Given the description of an element on the screen output the (x, y) to click on. 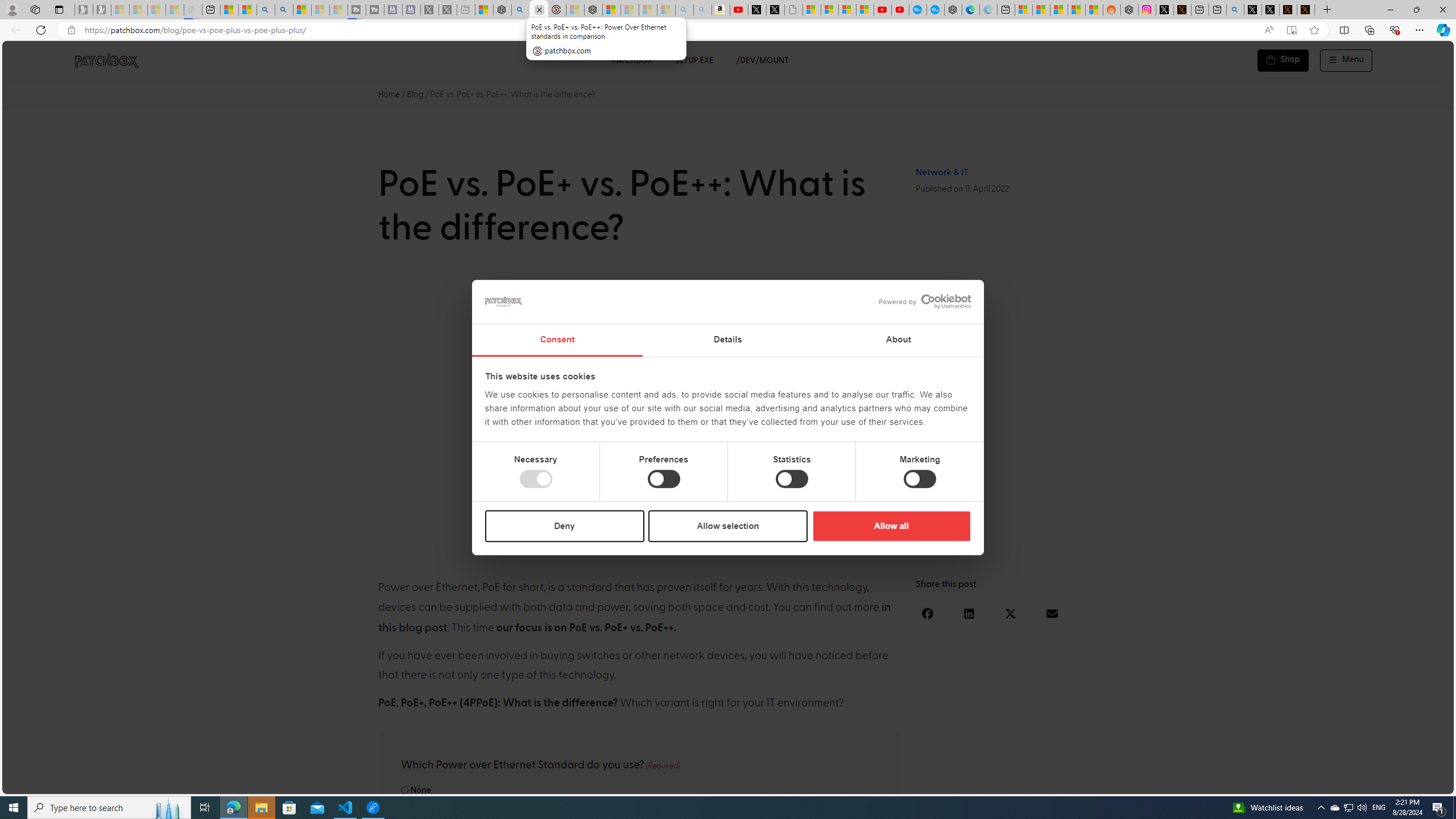
Language switcher : Croatian (1322, 782)
Language switcher : Czech (1413, 782)
Allow selection (727, 525)
Language switcher : Norwegian (1288, 782)
Language switcher : Slovak (1345, 782)
Newsletter Sign Up - Sleeping (102, 9)
